Given the description of an element on the screen output the (x, y) to click on. 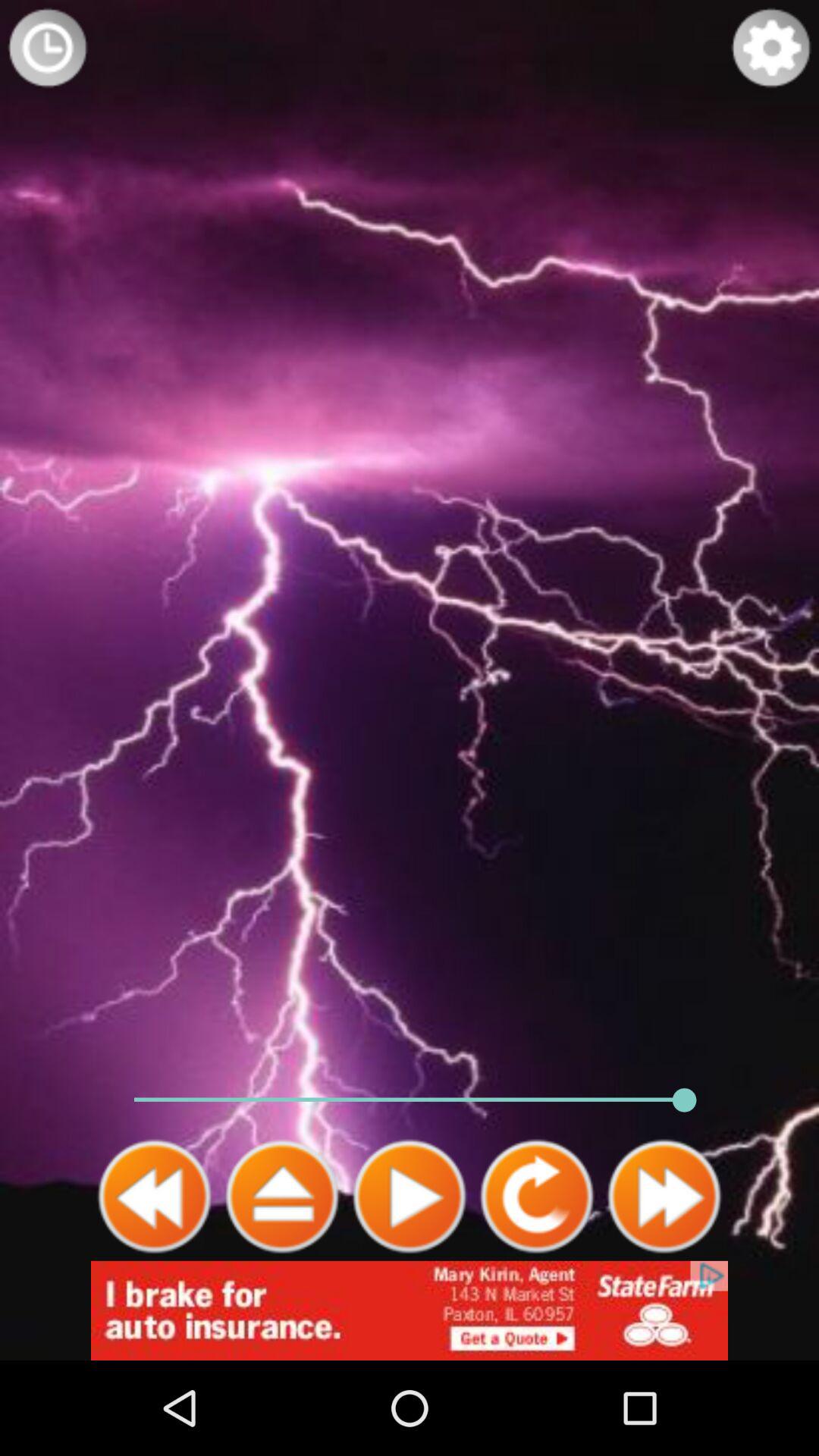
advance sound (281, 1196)
